Given the description of an element on the screen output the (x, y) to click on. 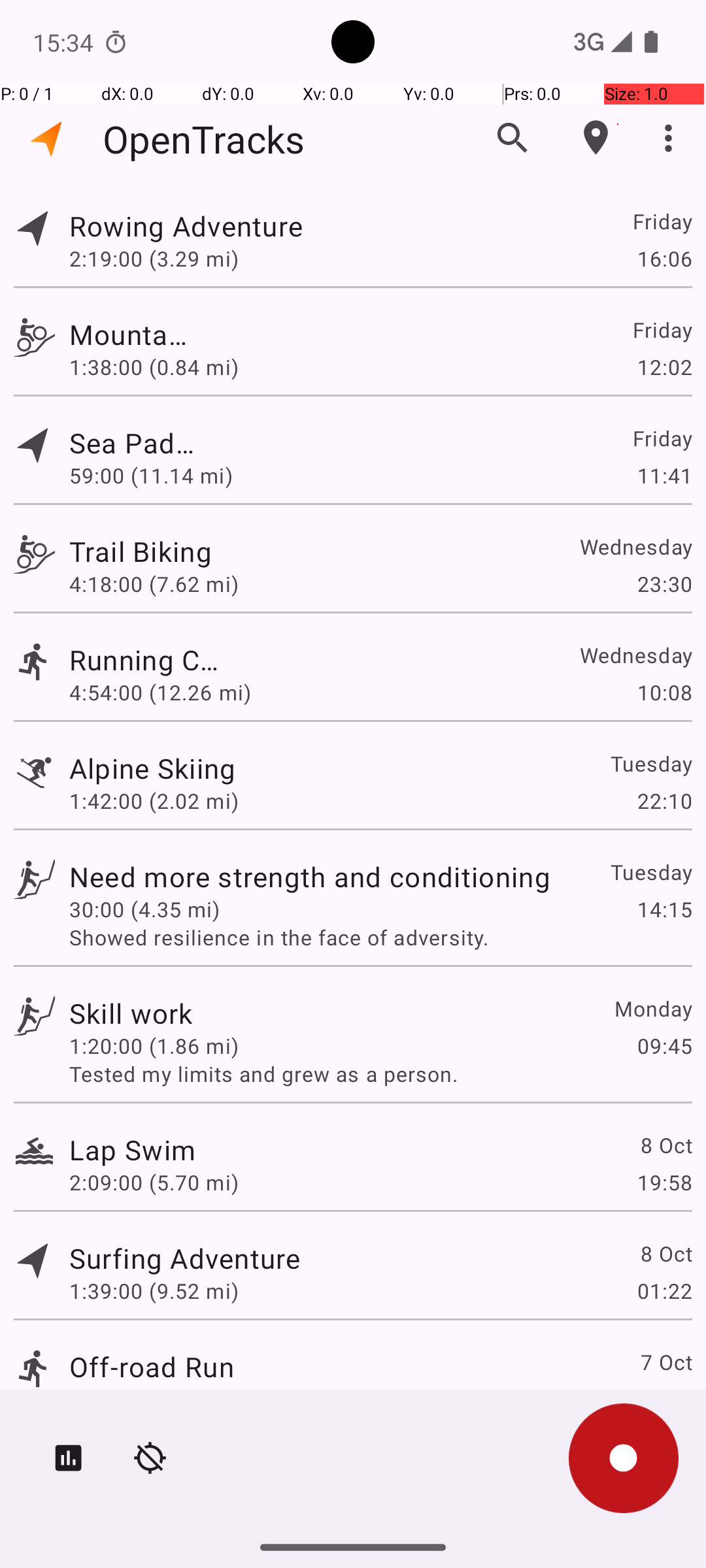
Rowing Adventure Element type: android.widget.TextView (309, 225)
2:19:00 (3.29 mi) Element type: android.widget.TextView (153, 258)
16:06 Element type: android.widget.TextView (664, 258)
Mountain Biking Excursion Element type: android.widget.TextView (130, 333)
1:38:00 (0.84 mi) Element type: android.widget.TextView (153, 366)
12:02 Element type: android.widget.TextView (664, 366)
Sea Paddling Element type: android.widget.TextView (132, 442)
59:00 (11.14 mi) Element type: android.widget.TextView (153, 475)
11:41 Element type: android.widget.TextView (664, 475)
Trail Biking Element type: android.widget.TextView (184, 550)
4:18:00 (7.62 mi) Element type: android.widget.TextView (153, 583)
23:30 Element type: android.widget.TextView (664, 583)
Running Challenge Element type: android.widget.TextView (151, 659)
4:54:00 (12.26 mi) Element type: android.widget.TextView (159, 692)
10:08 Element type: android.widget.TextView (664, 692)
Alpine Skiing Element type: android.widget.TextView (152, 767)
1:42:00 (2.02 mi) Element type: android.widget.TextView (153, 800)
22:10 Element type: android.widget.TextView (664, 800)
Need more strength and conditioning Element type: android.widget.TextView (309, 876)
30:00 (4.35 mi) Element type: android.widget.TextView (144, 909)
14:15 Element type: android.widget.TextView (664, 909)
Showed resilience in the face of adversity. Element type: android.widget.TextView (380, 937)
Skill work Element type: android.widget.TextView (130, 1012)
1:20:00 (1.86 mi) Element type: android.widget.TextView (153, 1045)
09:45 Element type: android.widget.TextView (664, 1045)
Tested my limits and grew as a person. Element type: android.widget.TextView (380, 1073)
Lap Swim Element type: android.widget.TextView (132, 1149)
2:09:00 (5.70 mi) Element type: android.widget.TextView (153, 1182)
19:58 Element type: android.widget.TextView (664, 1182)
Surfing Adventure Element type: android.widget.TextView (184, 1257)
1:39:00 (9.52 mi) Element type: android.widget.TextView (153, 1290)
01:22 Element type: android.widget.TextView (664, 1290)
Off-road Run Element type: android.widget.TextView (151, 1366)
2:10:00 (5.49 mi) Element type: android.widget.TextView (153, 1399)
19:16 Element type: android.widget.TextView (664, 1399)
